Given the description of an element on the screen output the (x, y) to click on. 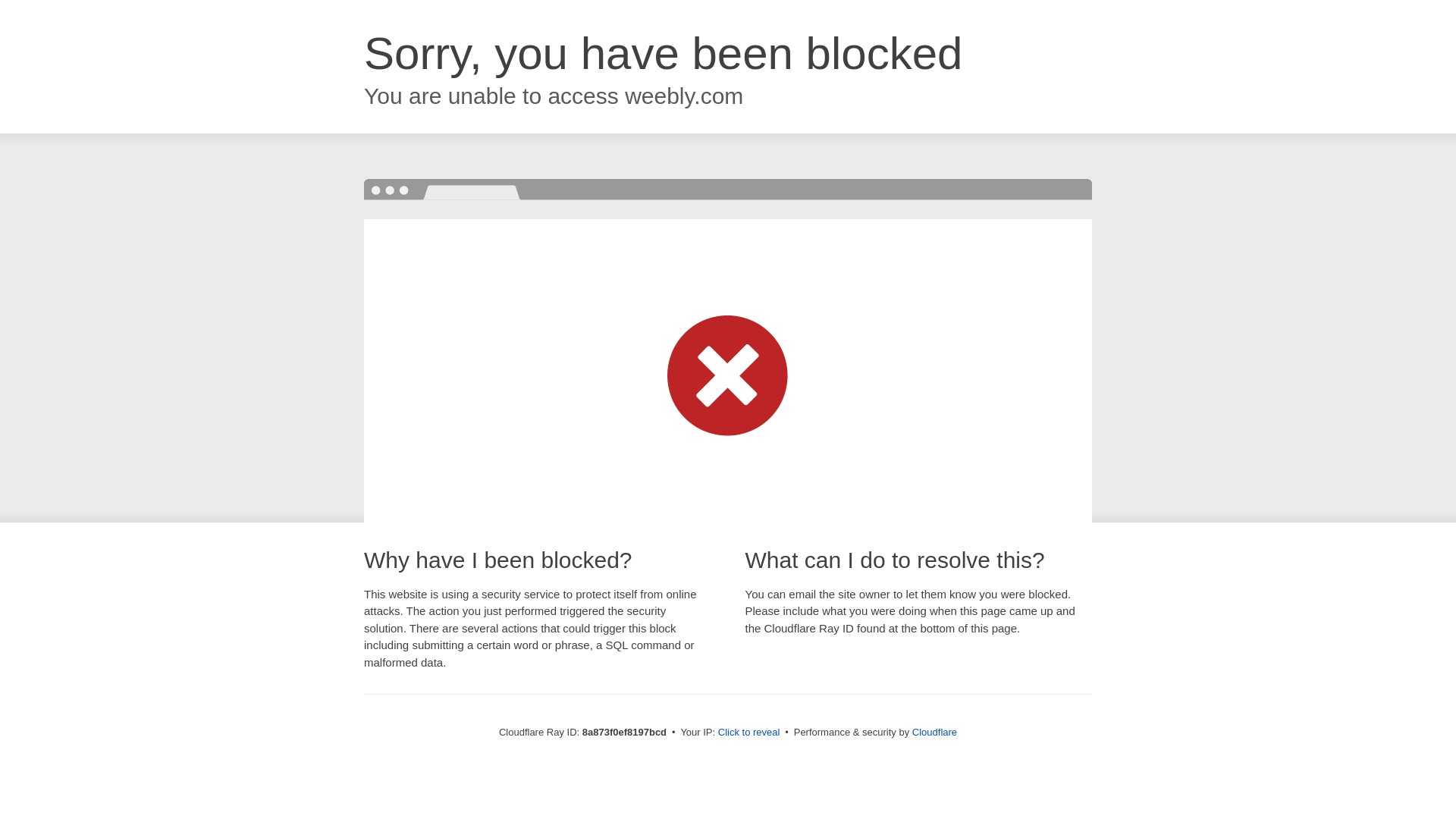
Cloudflare (934, 731)
Click to reveal (748, 732)
